Given the description of an element on the screen output the (x, y) to click on. 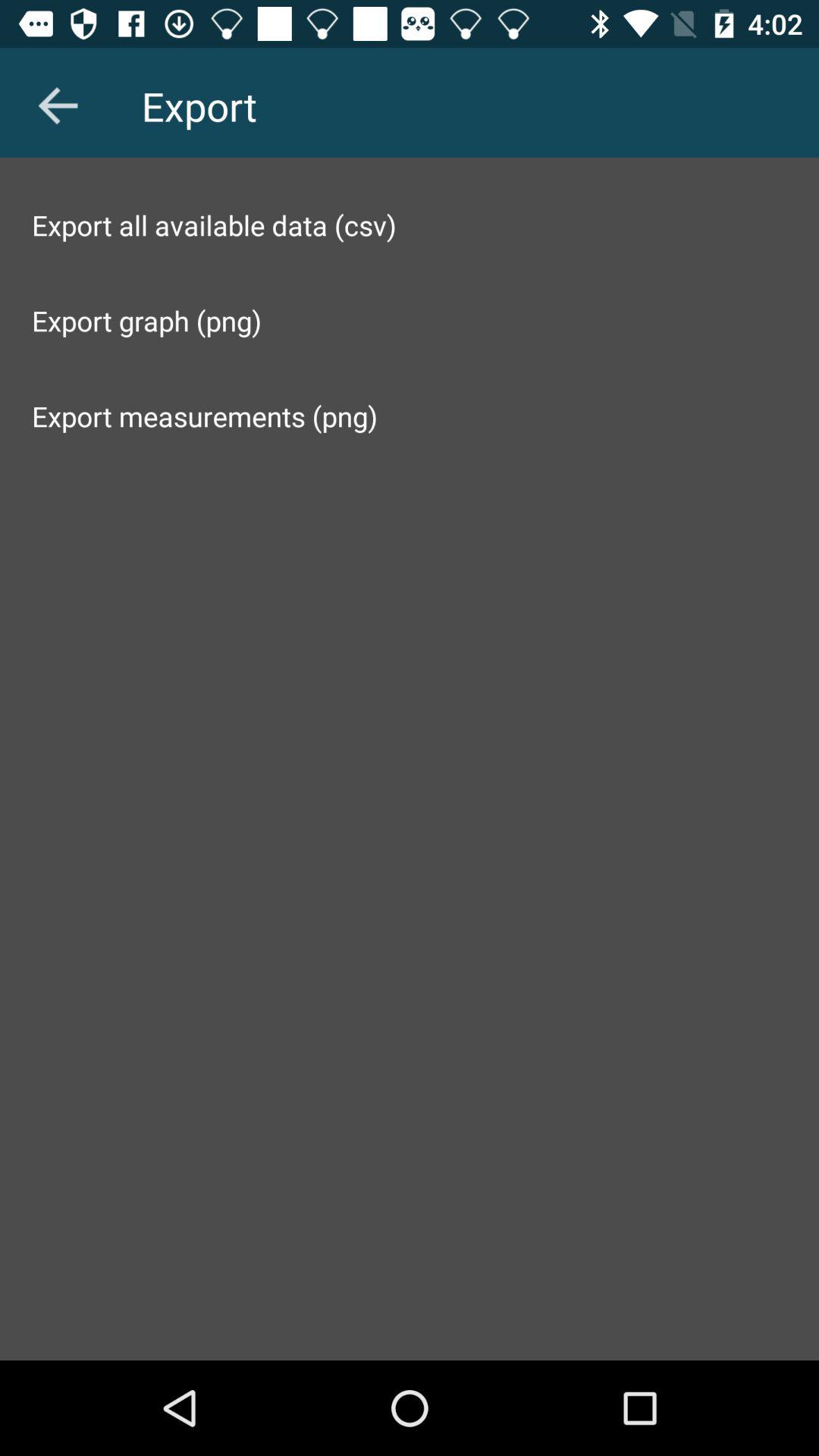
tap item above export all available (57, 105)
